Given the description of an element on the screen output the (x, y) to click on. 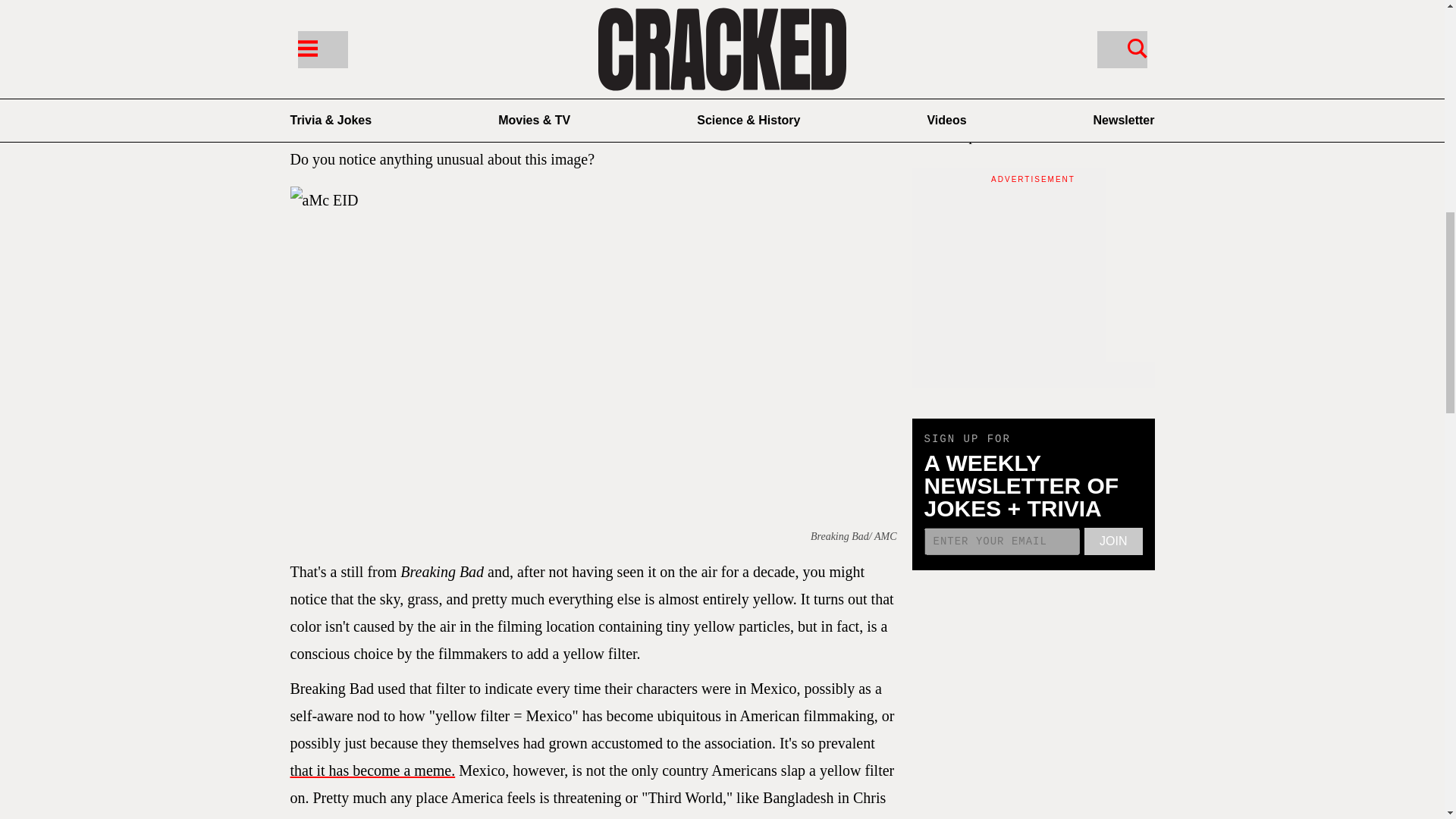
that it has become a meme. (371, 770)
Dan Duddy (387, 91)
